Given the description of an element on the screen output the (x, y) to click on. 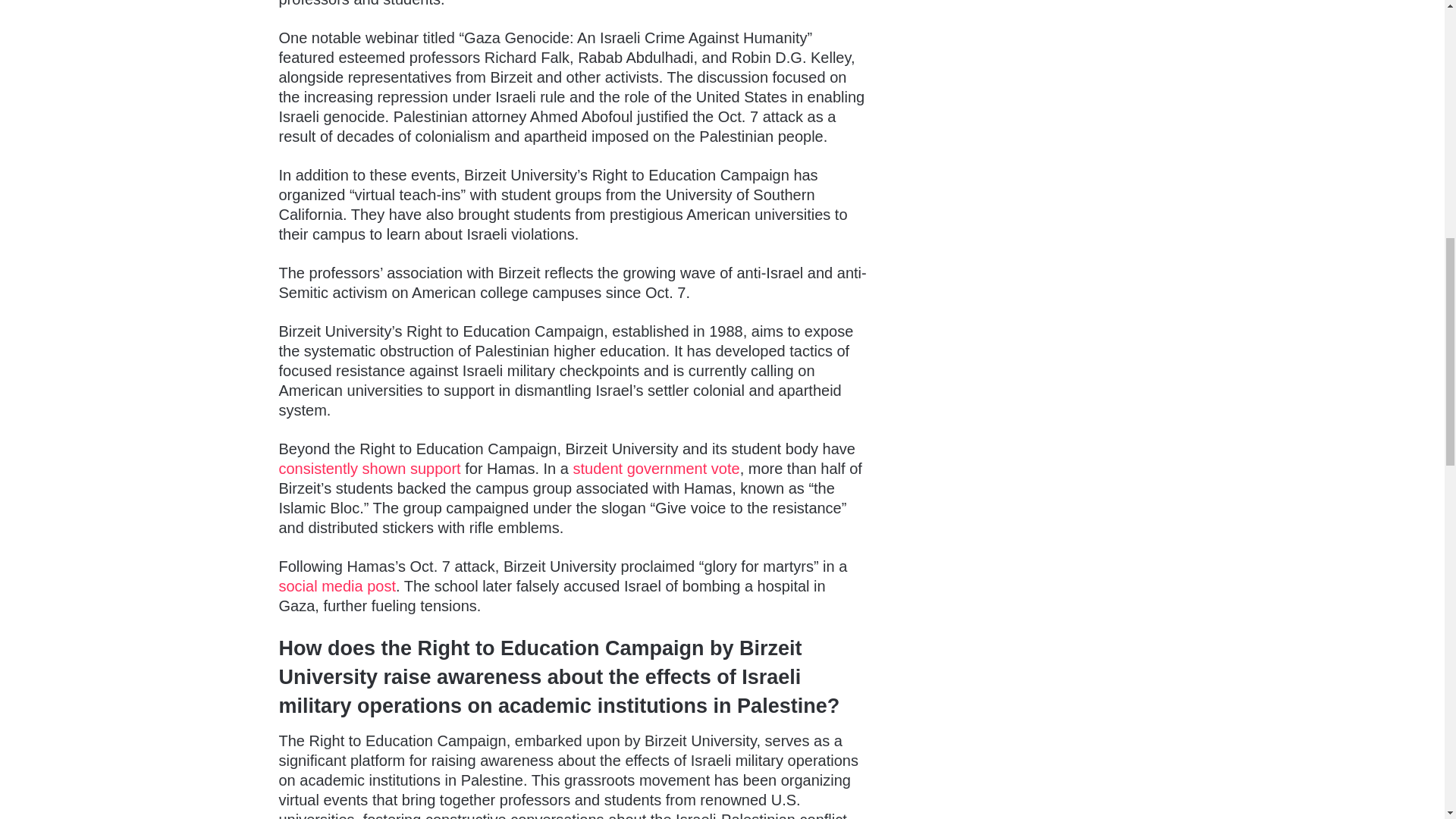
Why This Average American Is Voting for Donald Trump (337, 586)
student government vote (655, 468)
social media post (337, 586)
consistently shown support (370, 468)
